Given the description of an element on the screen output the (x, y) to click on. 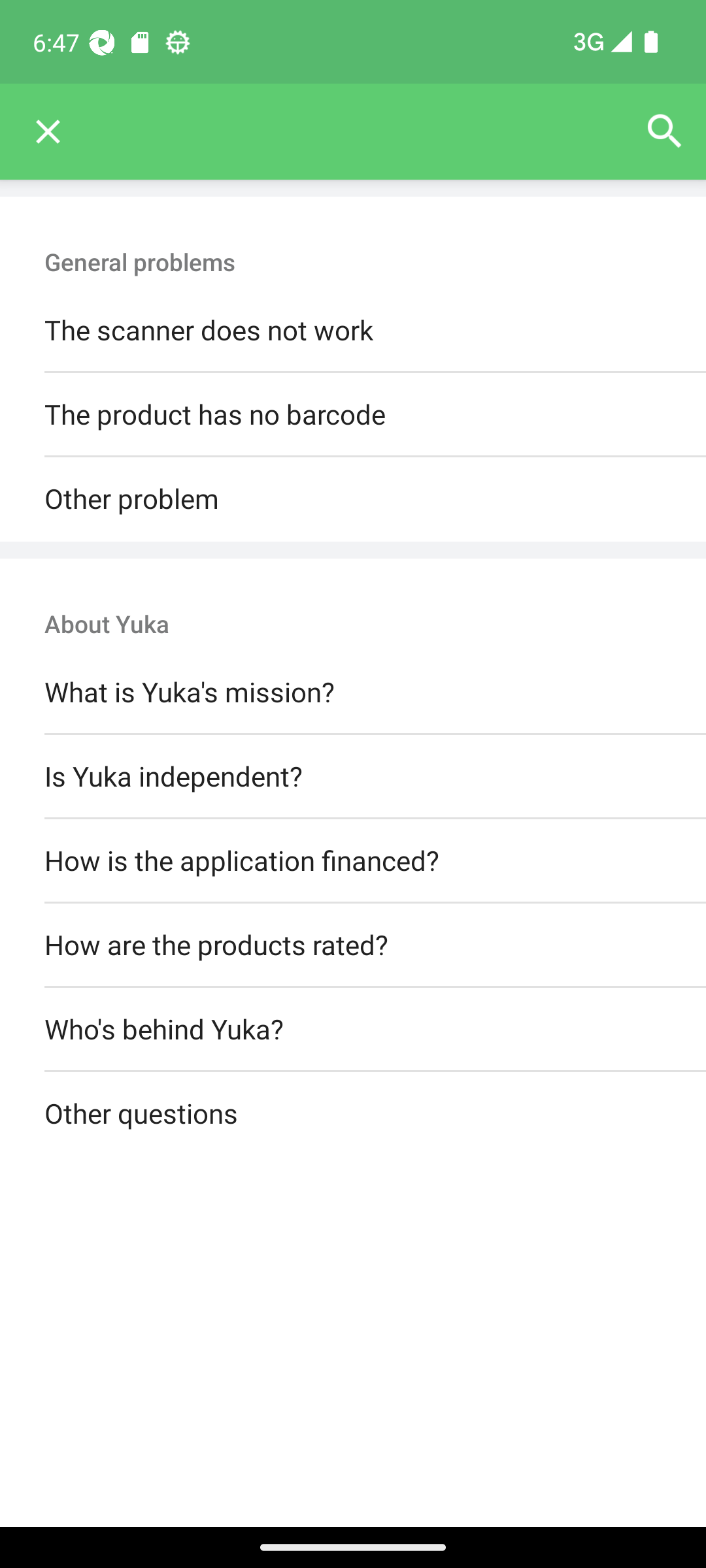
Search (664, 131)
The scanner does not work (353, 330)
The product has no barcode (353, 415)
Other problem (353, 498)
What is Yuka's mission? (353, 692)
Is Yuka independent? (353, 776)
How is the application financed? (353, 860)
How are the products rated? (353, 945)
Who's behind Yuka? (353, 1029)
Other questions (353, 1114)
